Given the description of an element on the screen output the (x, y) to click on. 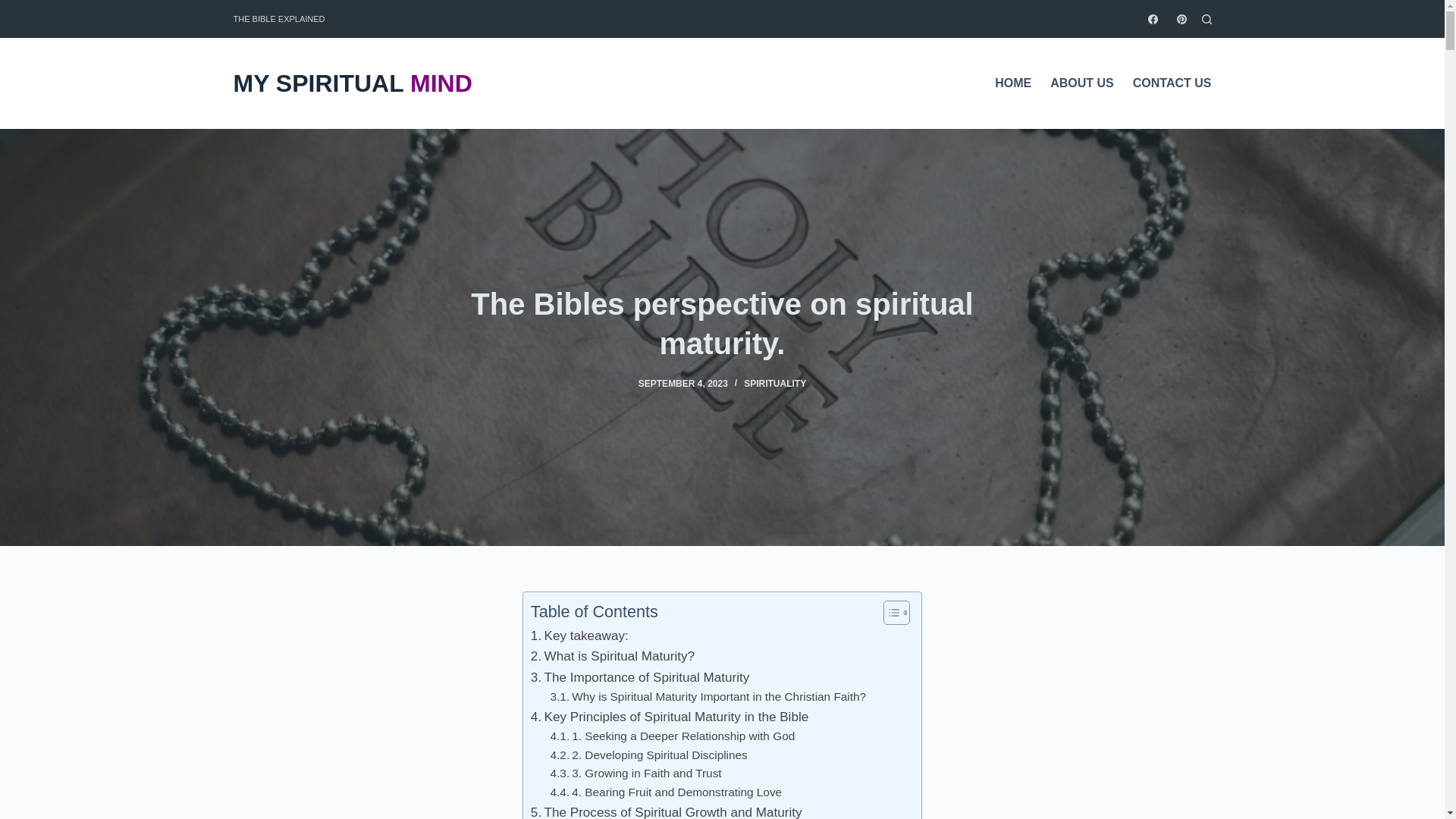
The Bibles perspective on spiritual maturity. (722, 323)
MY SPIRITUAL MIND (351, 84)
SPIRITUALITY (775, 383)
ABOUT US (1082, 82)
What is Spiritual Maturity? (612, 656)
1. Seeking a Deeper Relationship with God (672, 736)
Key Principles of Spiritual Maturity in the Bible (669, 716)
Key Principles of Spiritual Maturity in the Bible (669, 716)
THE BIBLE EXPLAINED (278, 18)
The Importance of Spiritual Maturity (640, 677)
Why is Spiritual Maturity Important in the Christian Faith? (708, 696)
The Process of Spiritual Growth and Maturity (666, 810)
Key takeaway: (579, 635)
3. Growing in Faith and Trust (636, 773)
2. Developing Spiritual Disciplines (649, 755)
